Given the description of an element on the screen output the (x, y) to click on. 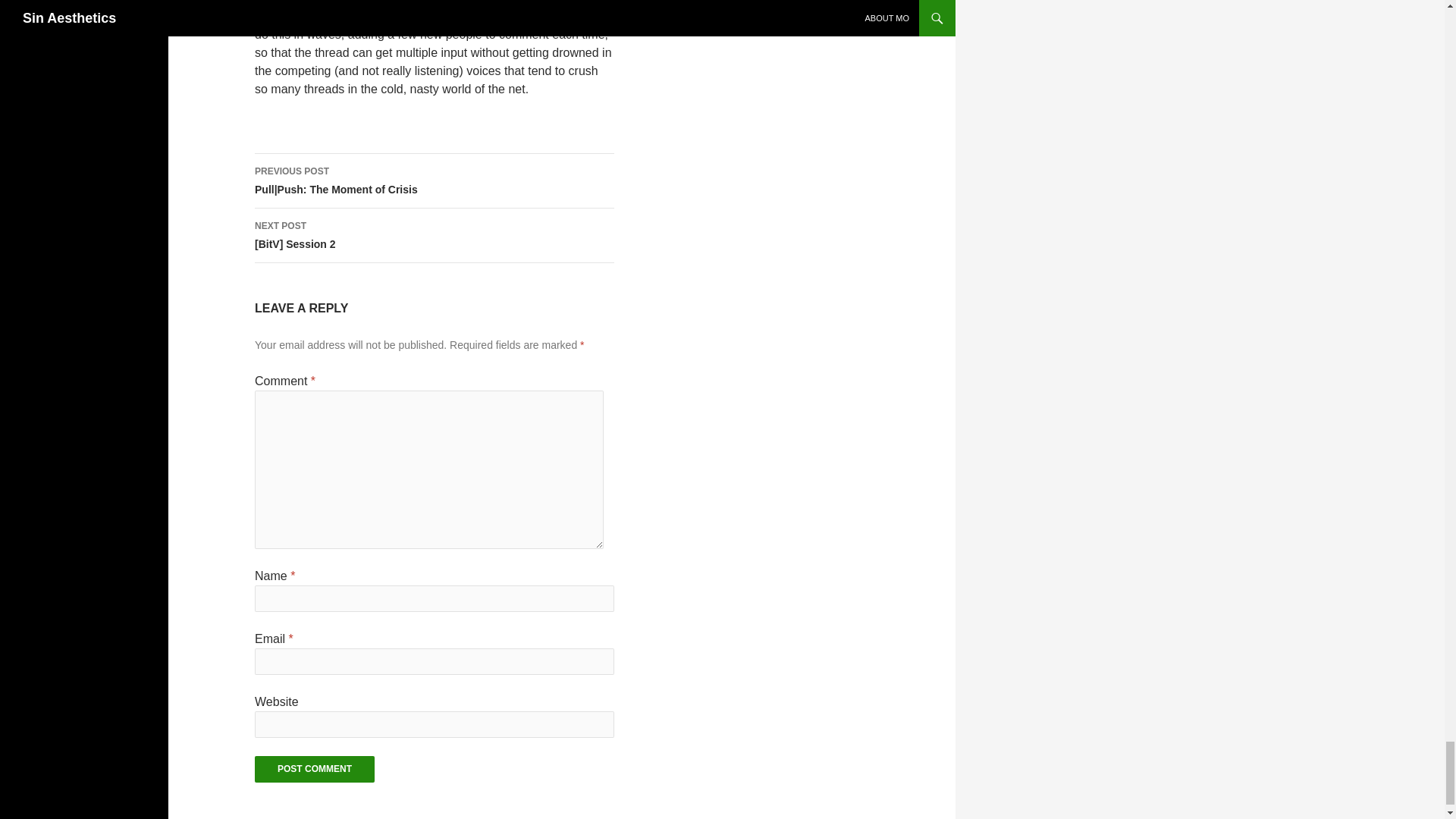
Post Comment (314, 768)
Post Comment (314, 768)
